Given the description of an element on the screen output the (x, y) to click on. 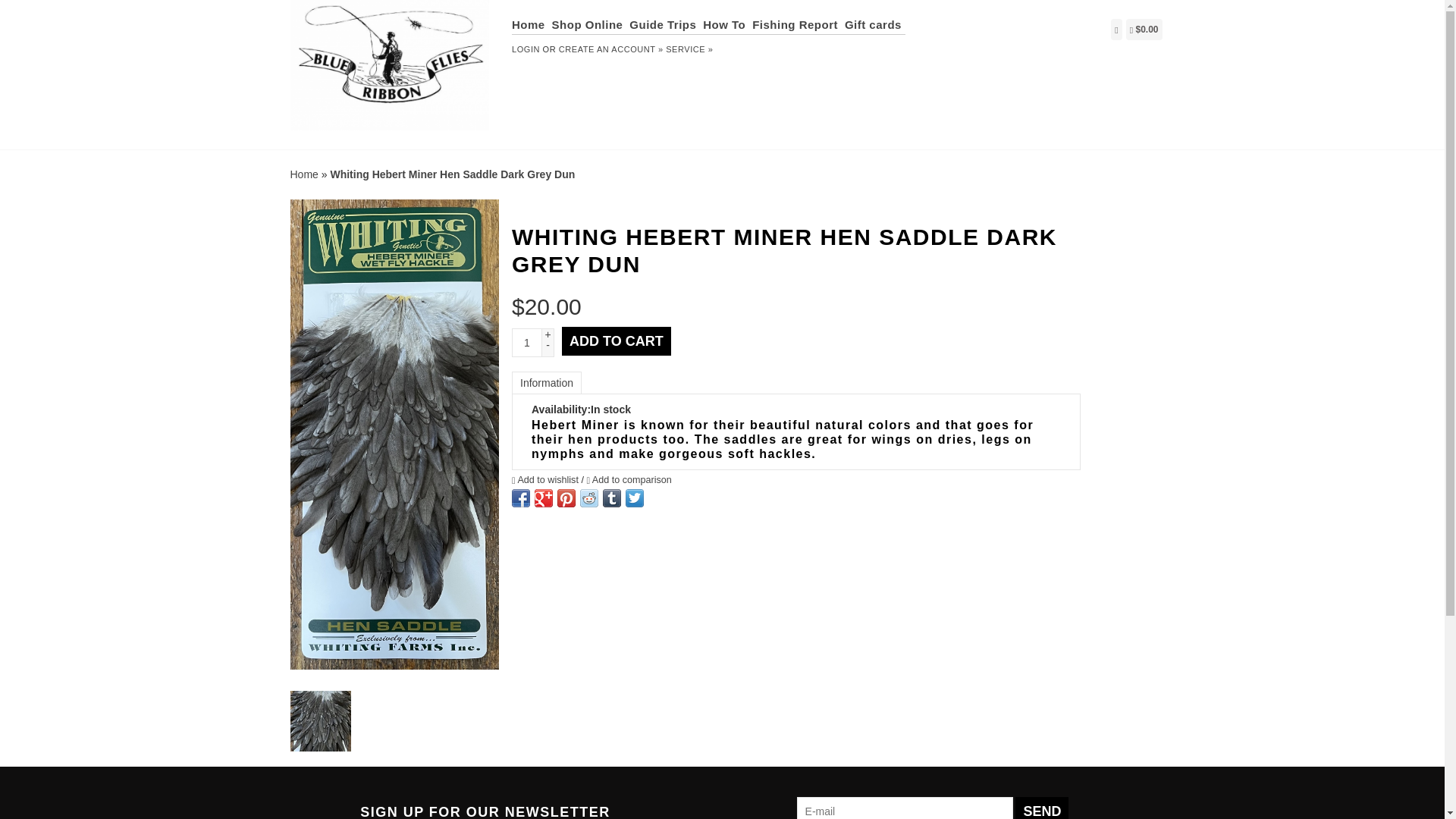
Blue Ribbon Flies (389, 72)
Home (530, 24)
Shop Online (589, 24)
Shop Online (589, 24)
1 (526, 342)
